Given the description of an element on the screen output the (x, y) to click on. 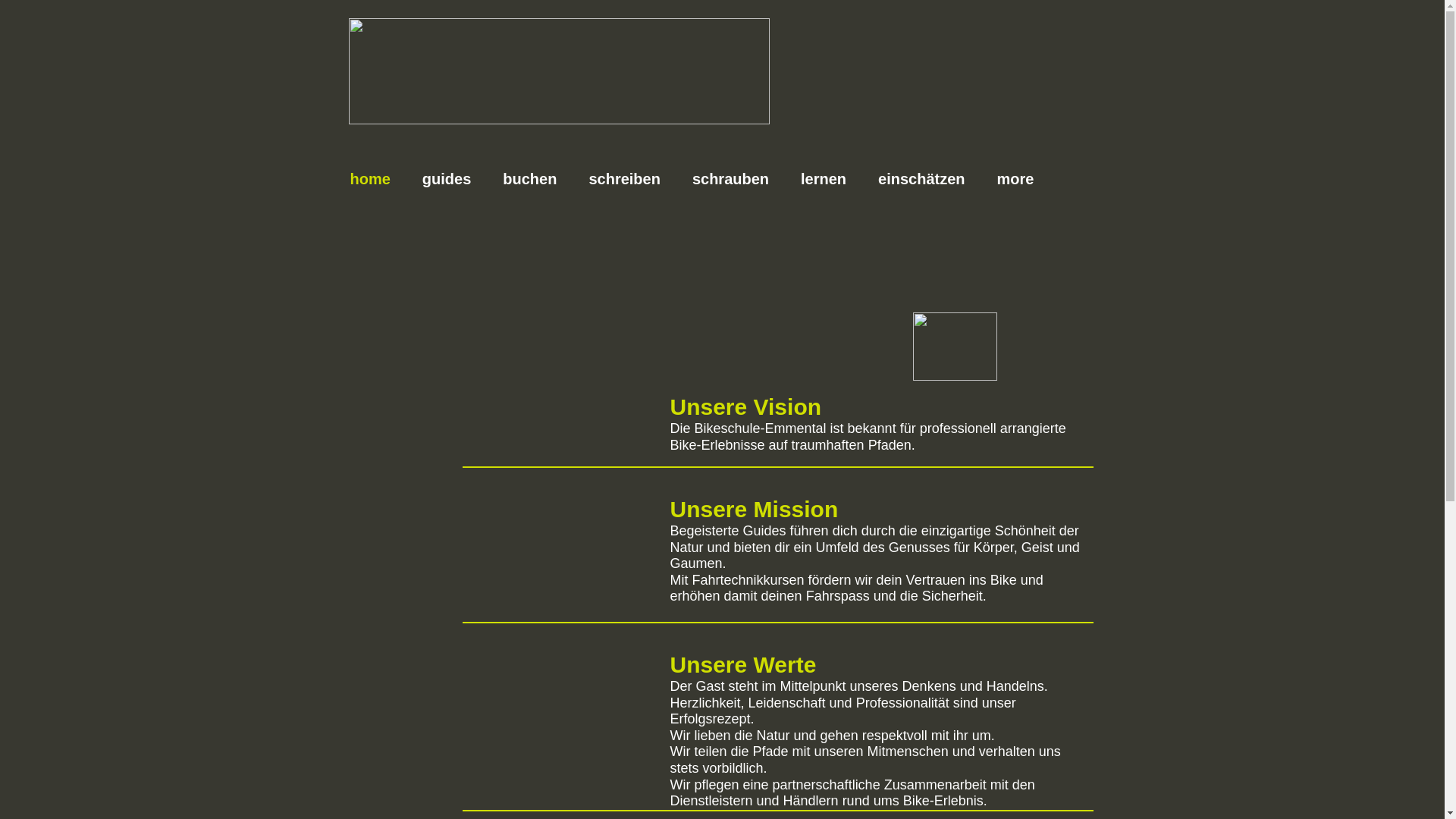
buchen Element type: text (529, 178)
home Element type: text (370, 178)
schreiben Element type: text (623, 178)
schrauben Element type: text (730, 178)
more Element type: text (1015, 178)
guides Element type: text (446, 178)
lernen Element type: text (823, 178)
